Given the description of an element on the screen output the (x, y) to click on. 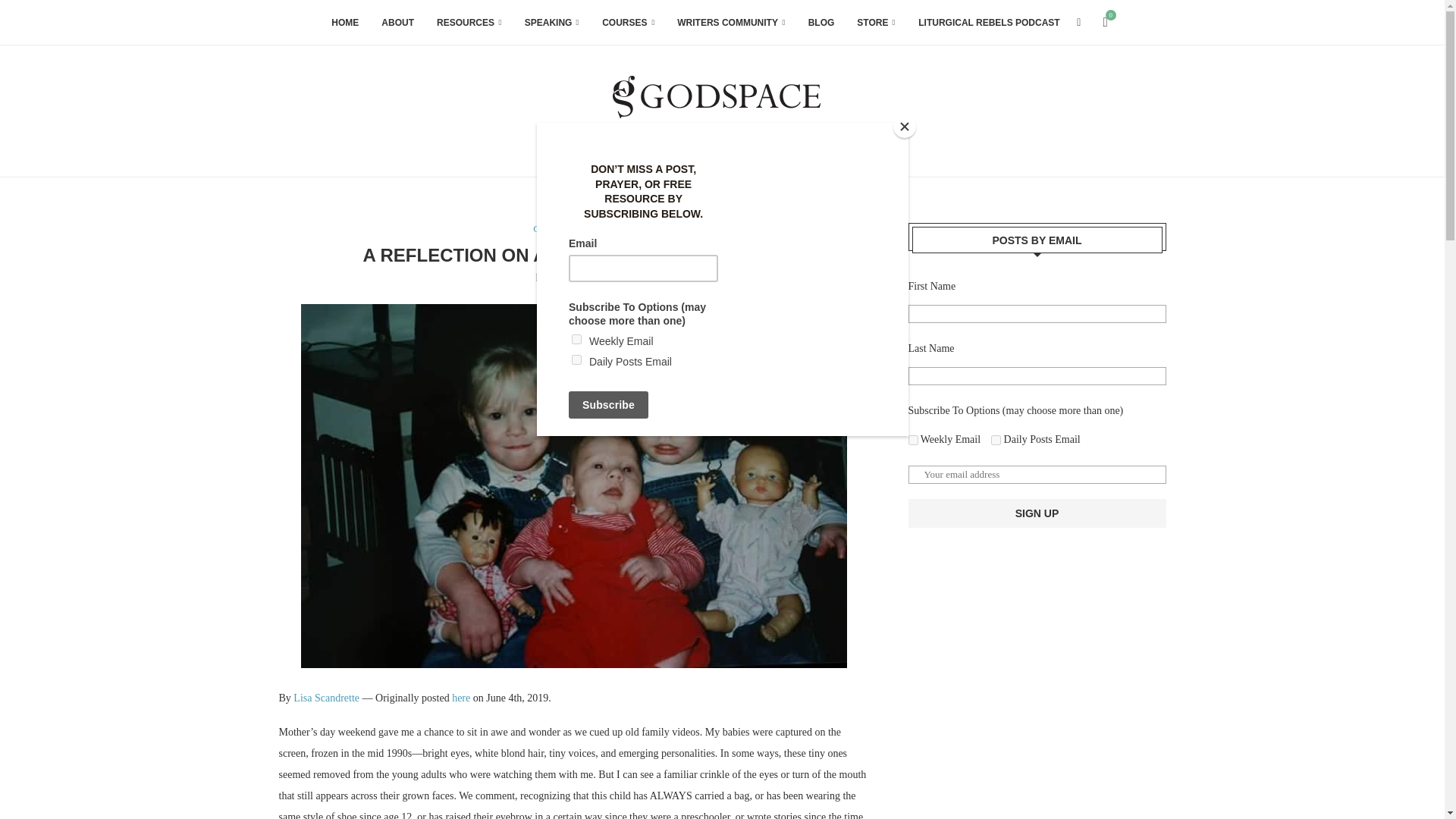
WRITERS COMMUNITY (730, 22)
COURSES (627, 22)
7316919972 (913, 439)
RESOURCES (469, 22)
53090618e5 (996, 439)
SPEAKING (551, 22)
LITURGICAL REBELS PODCAST (988, 22)
Sign up (1037, 512)
